Given the description of an element on the screen output the (x, y) to click on. 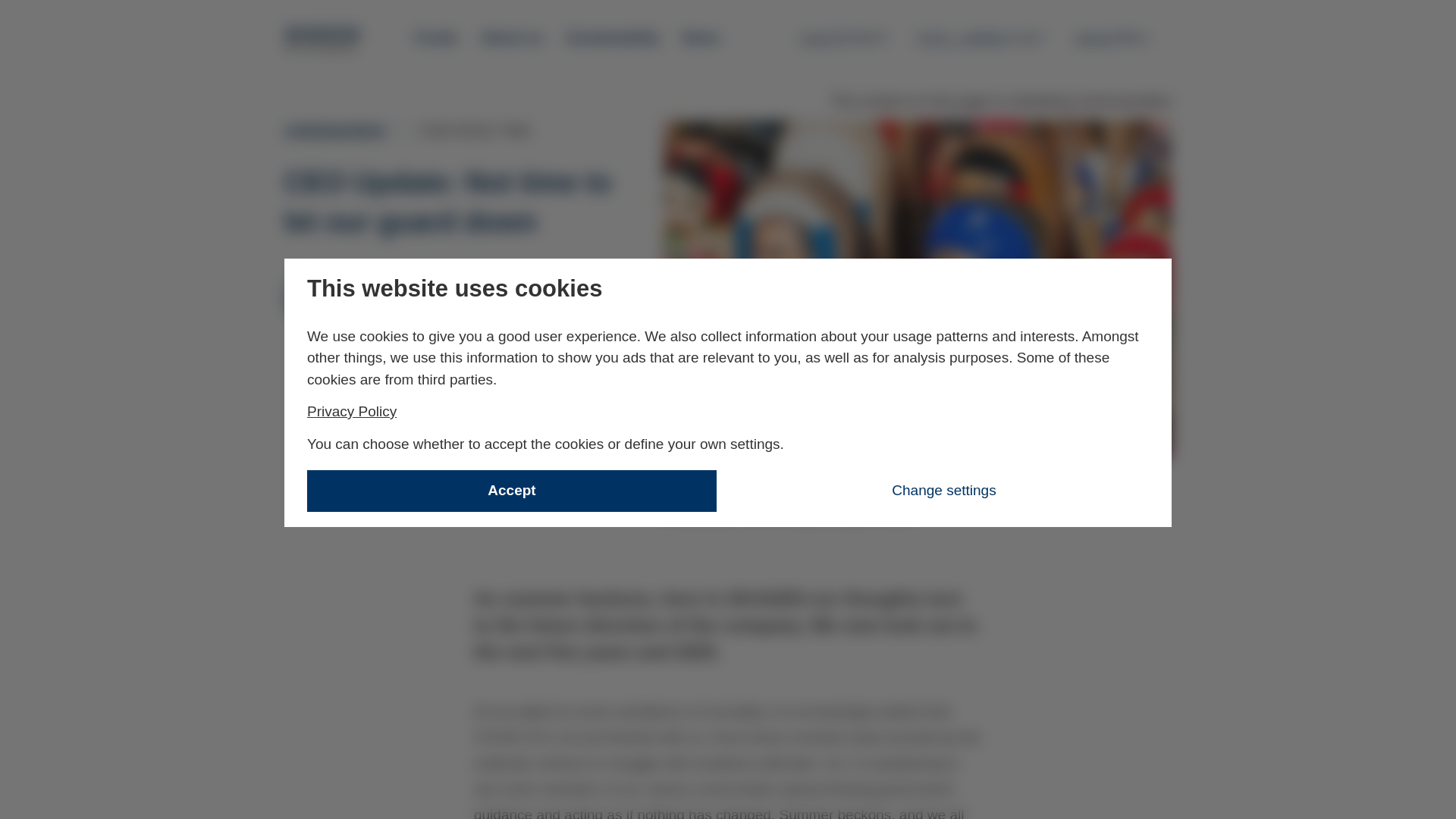
SKAGEN Funds (323, 39)
Funds (436, 37)
Global Stock Markets (356, 370)
Timothy Warrington (427, 281)
About us (842, 37)
Sustainability (511, 37)
